Given the description of an element on the screen output the (x, y) to click on. 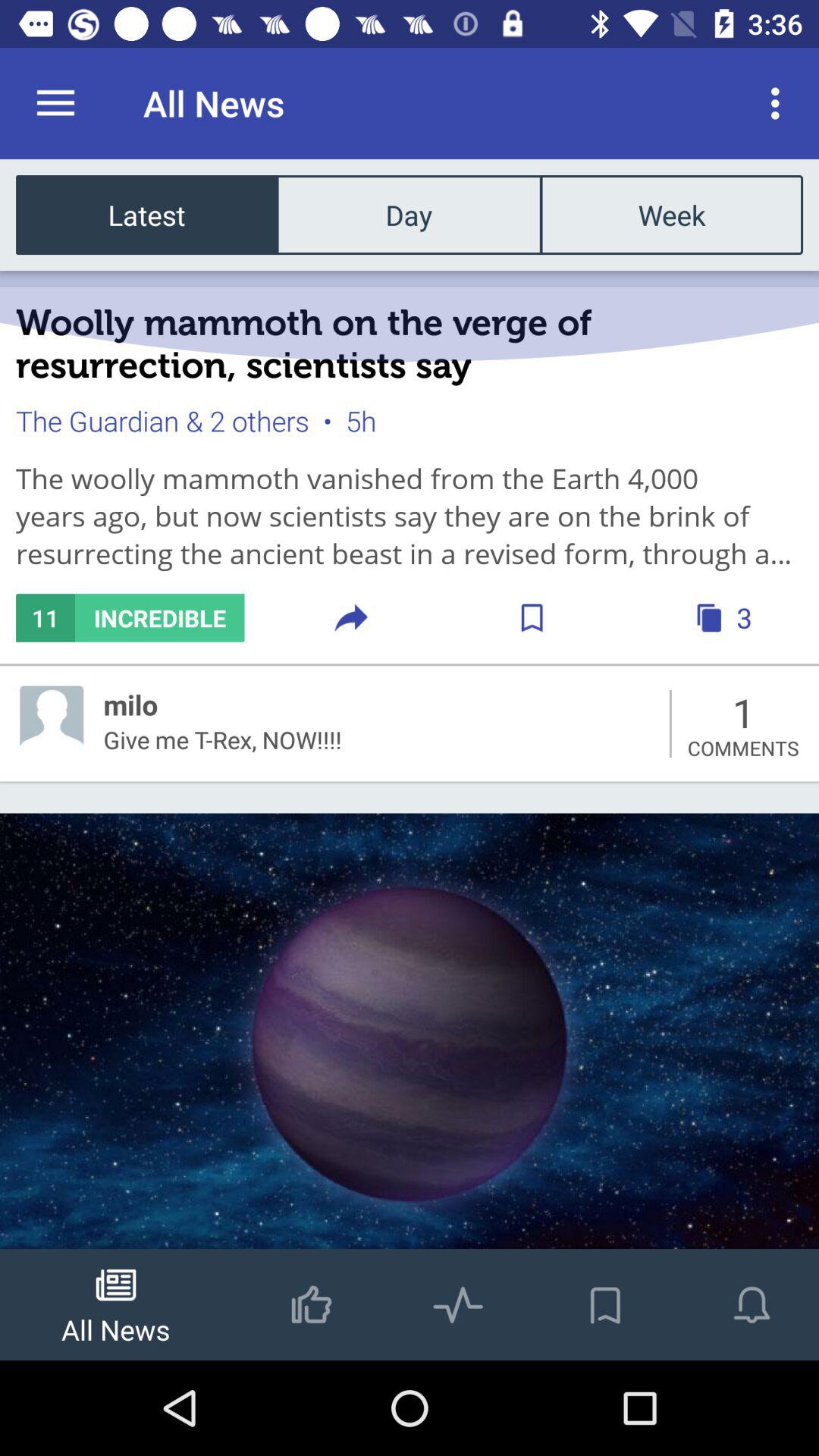
press icon to the left of the all news item (55, 103)
